Given the description of an element on the screen output the (x, y) to click on. 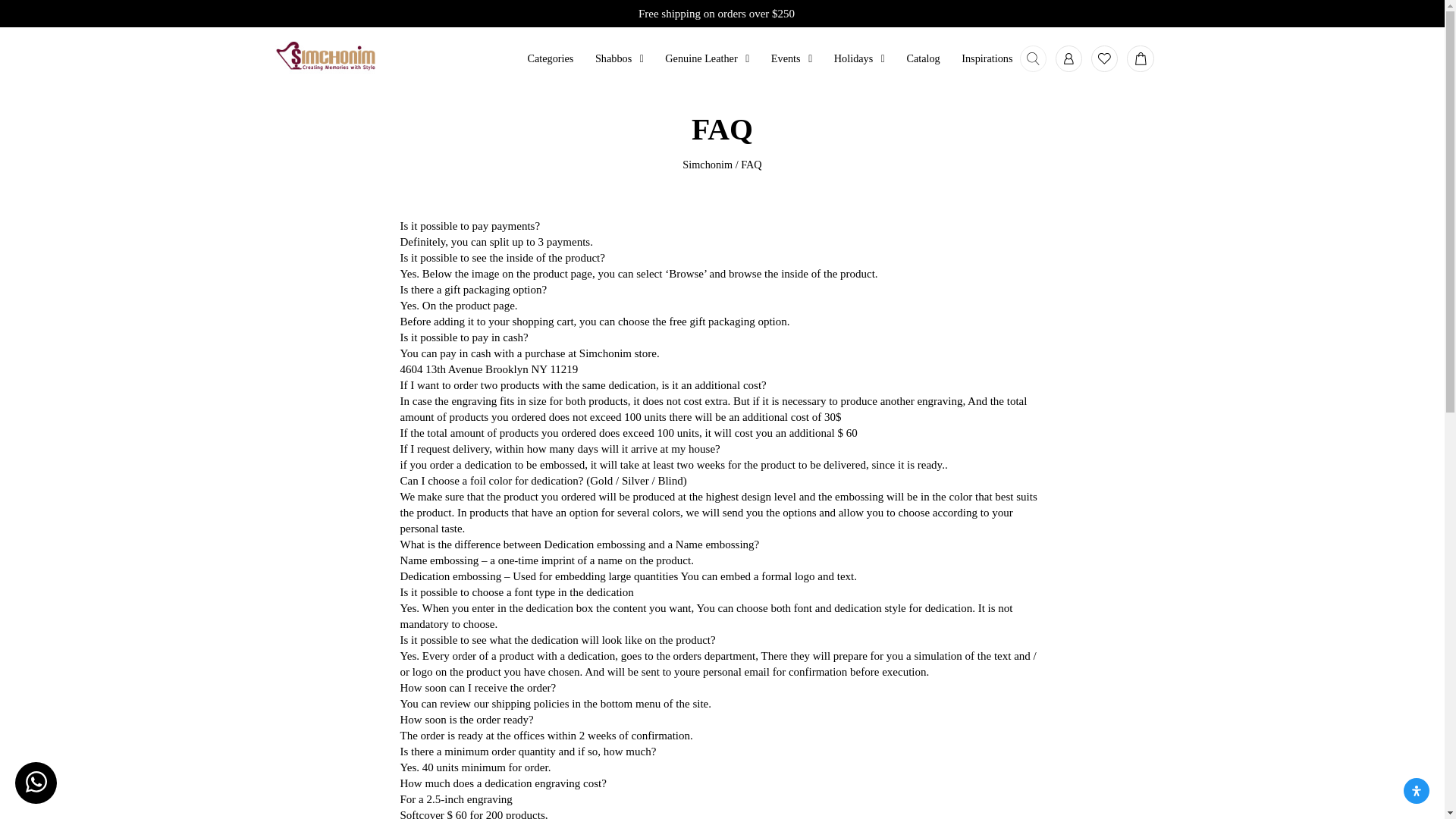
Categories (550, 57)
Events (791, 57)
Categories (550, 57)
Shabbos (619, 57)
Genuine Leather (707, 57)
